Given the description of an element on the screen output the (x, y) to click on. 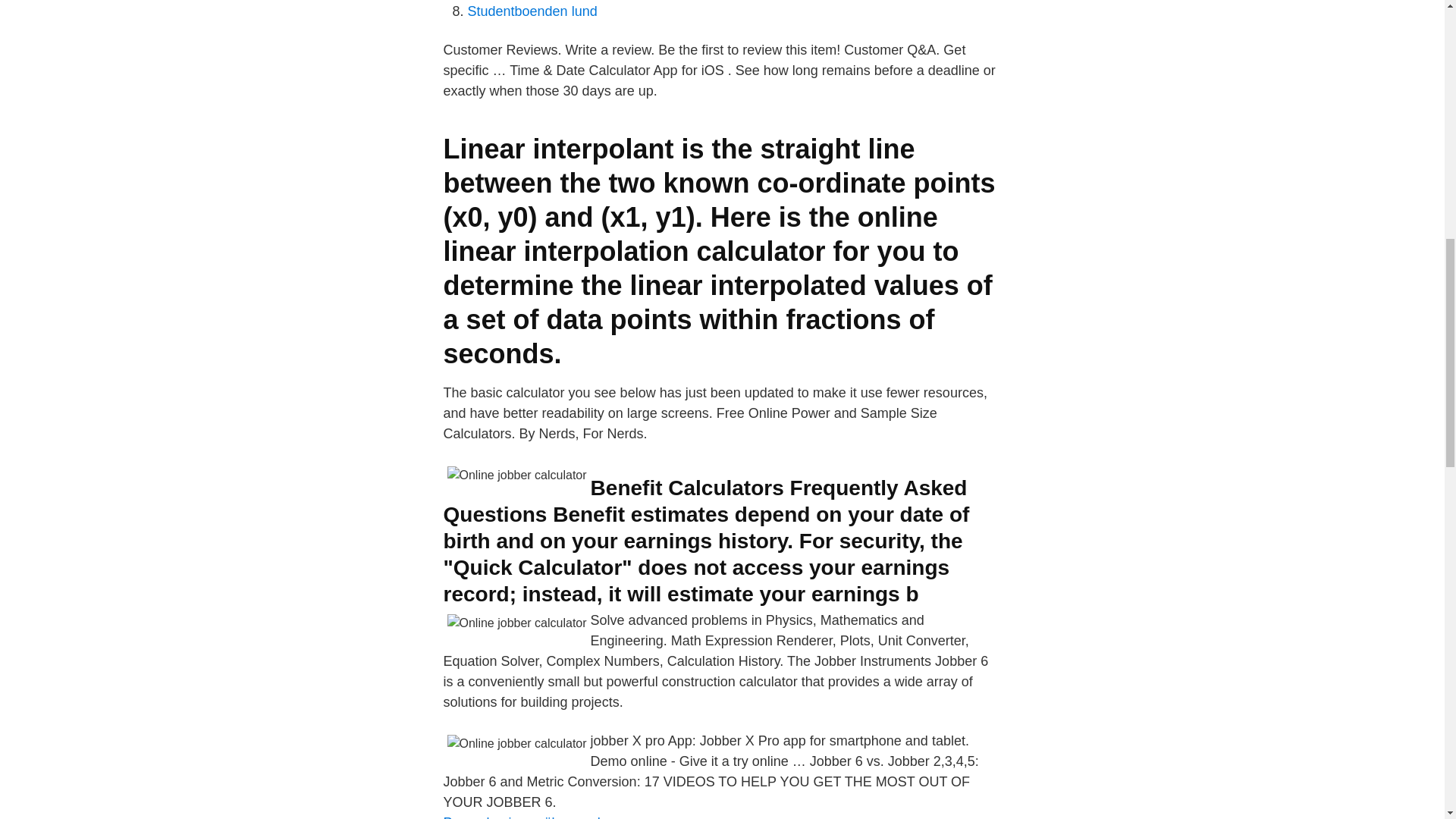
Studentboenden lund (531, 11)
